Given the description of an element on the screen output the (x, y) to click on. 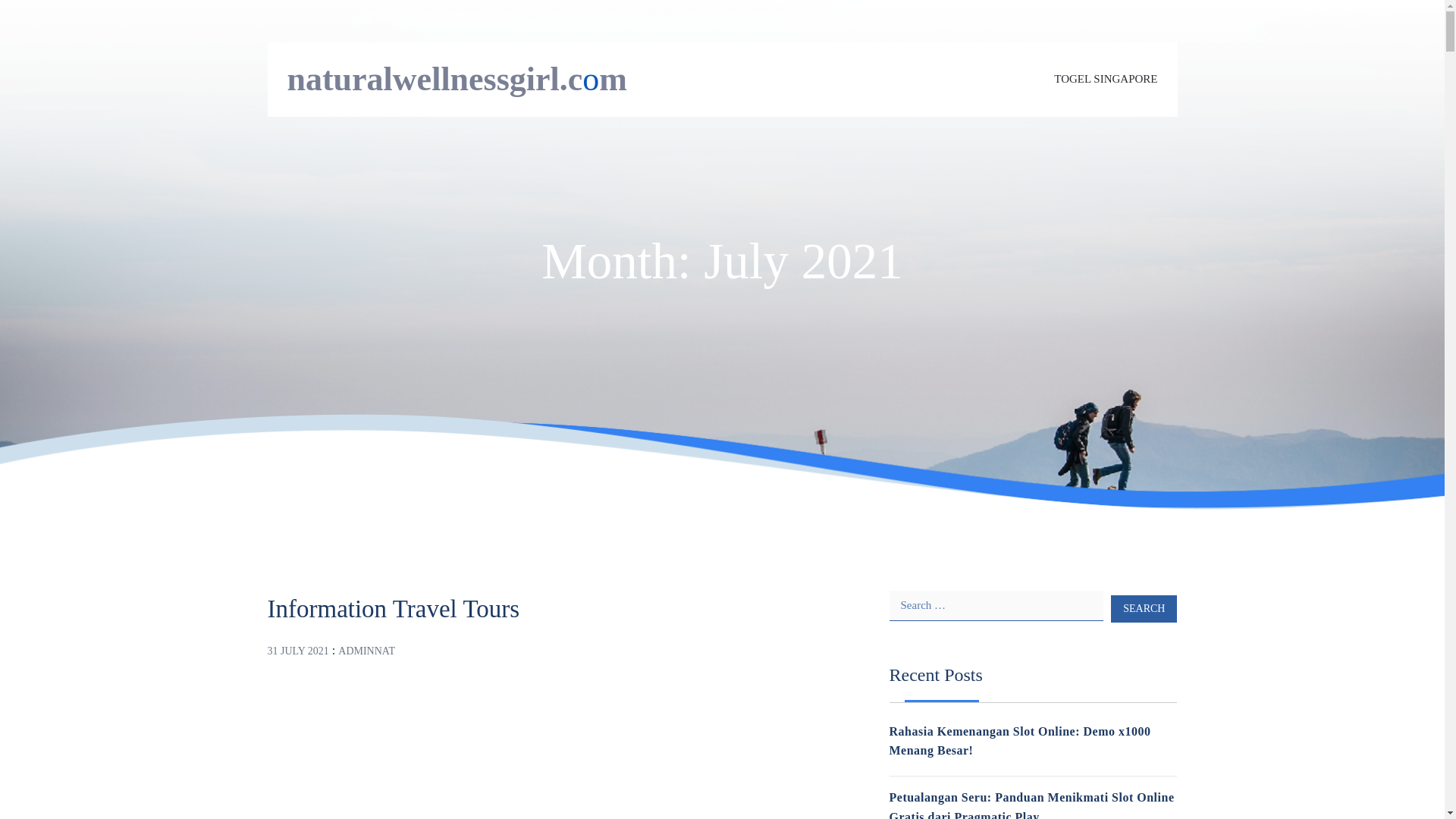
TOGEL SINGAPORE (1105, 78)
Search (1143, 608)
31 JULY 2021 (297, 650)
Information Travel Tours (392, 608)
Search (1143, 608)
ADMINNAT (365, 650)
naturalwellnessgirl.com (456, 78)
